Given the description of an element on the screen output the (x, y) to click on. 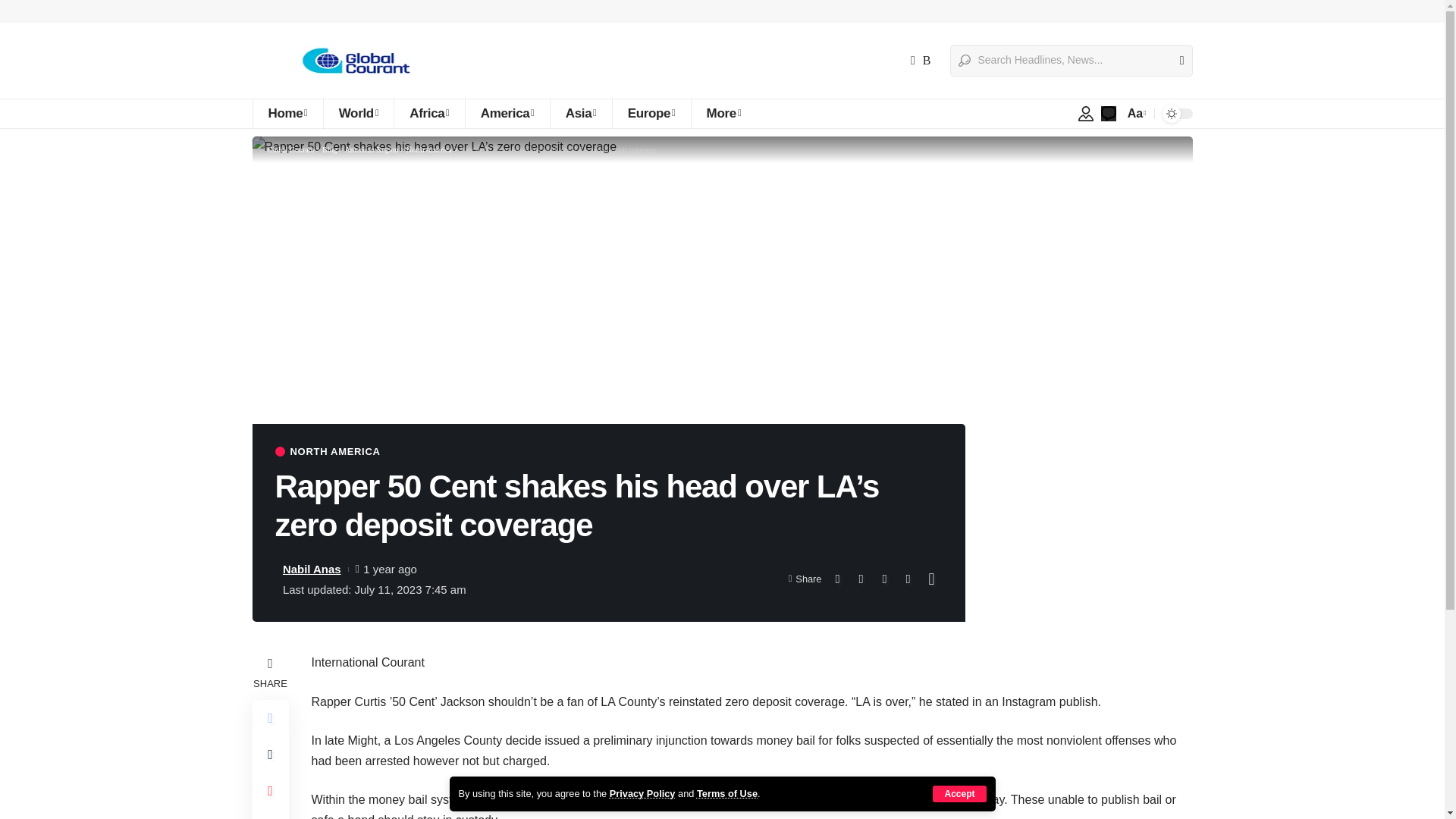
Accept (959, 793)
America (507, 113)
Home (286, 113)
Europe (650, 113)
World (358, 113)
Go to the American Region Category archives. (371, 149)
Privacy Policy (642, 793)
Go to the North America Category archives. (428, 149)
Global Courant (353, 60)
Africa (428, 113)
Terms of Use (727, 793)
Search (1175, 60)
Asia (580, 113)
Go to Blog. (328, 149)
Go to Global Courant. (290, 149)
